Given the description of an element on the screen output the (x, y) to click on. 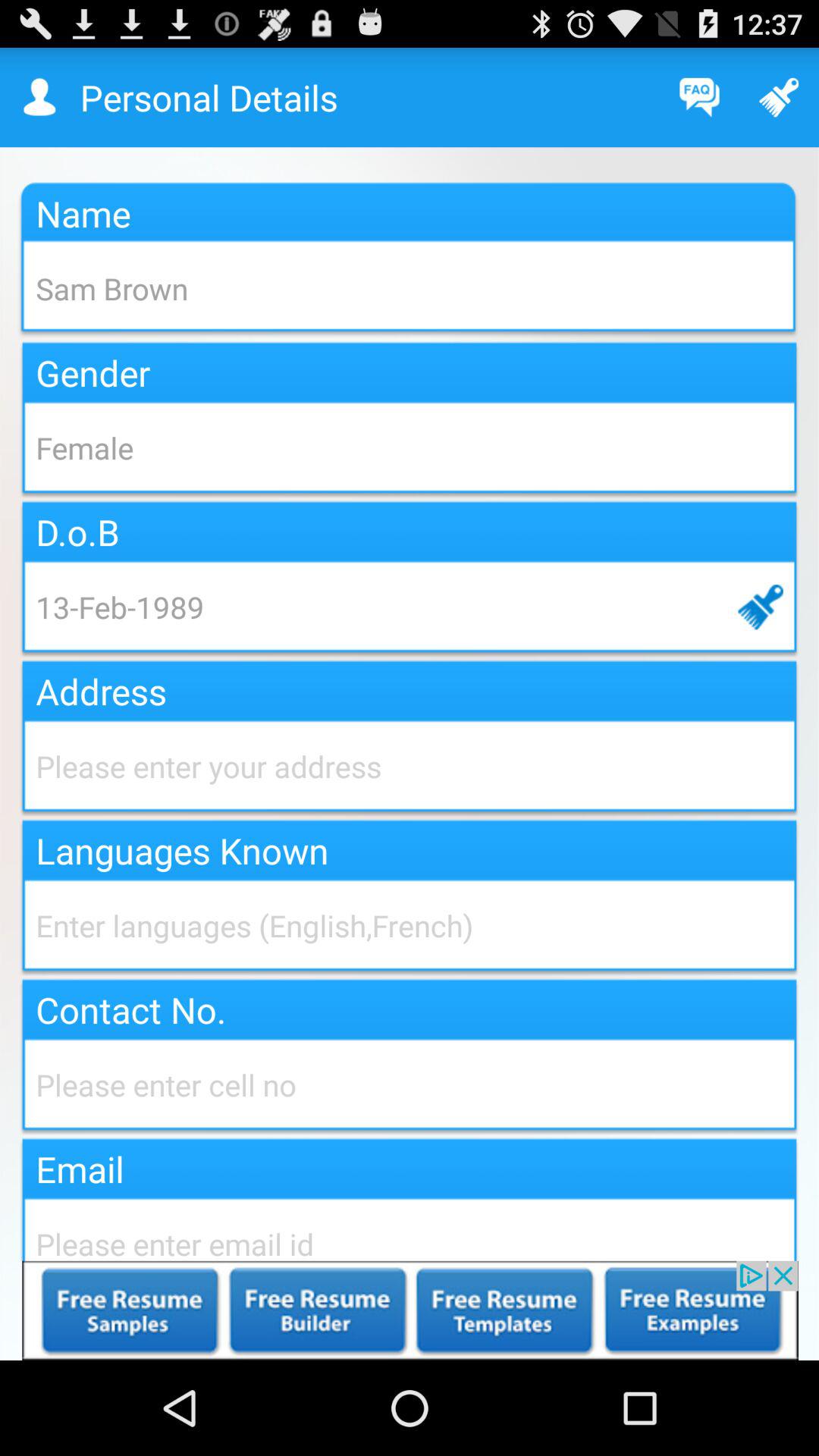
address button (409, 766)
